Given the description of an element on the screen output the (x, y) to click on. 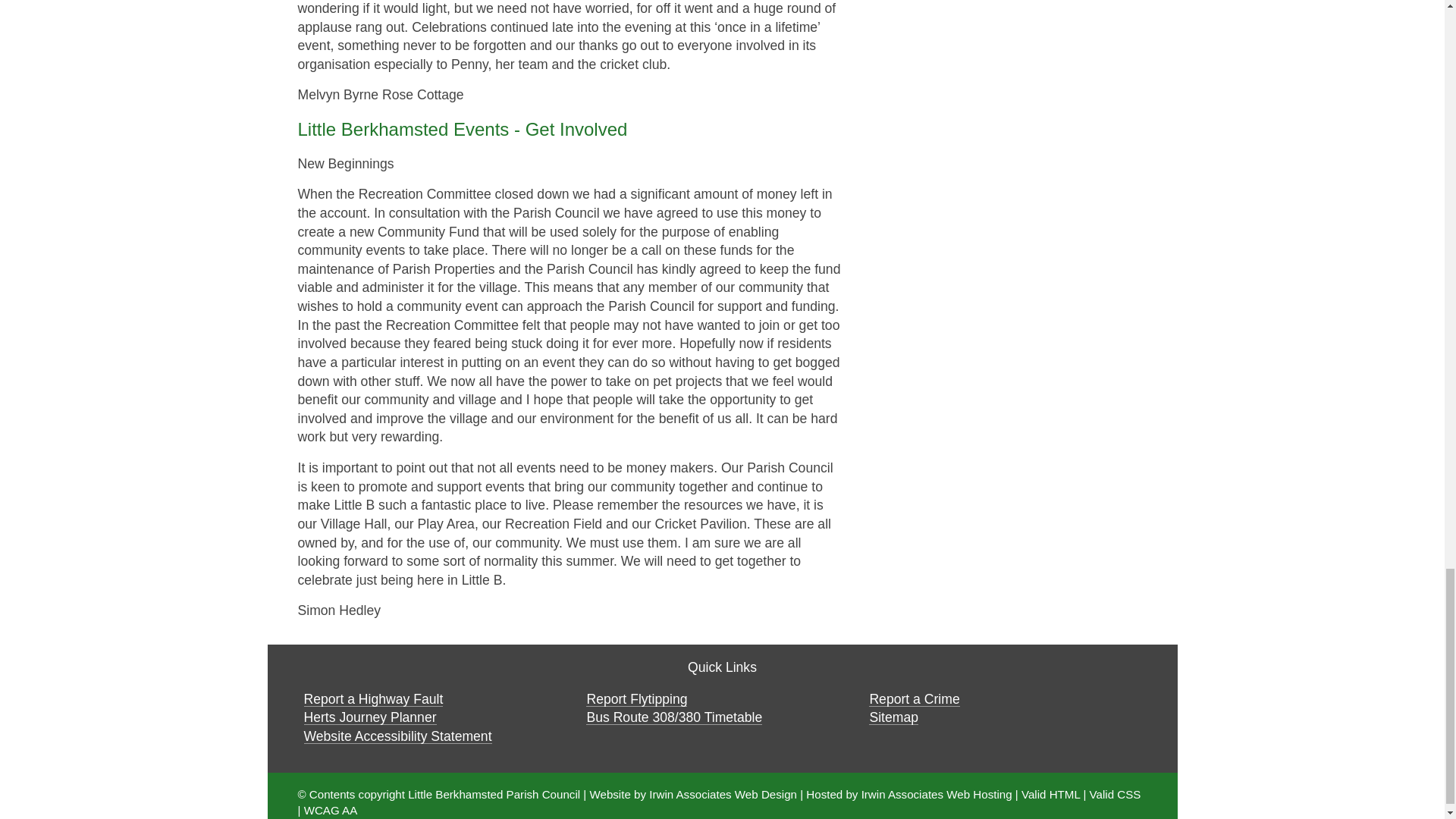
Report Flytipping (636, 698)
Valid CSS (1115, 793)
Website by Irwin Associates Web Design (692, 793)
Report a Crime (914, 698)
Valid HTML (1051, 793)
Hosted by Irwin Associates Web Hosting (908, 793)
Sitemap (893, 717)
Website Accessibility Statement (397, 735)
Herts Journey Planner (368, 717)
WCAG AA (331, 809)
